Given the description of an element on the screen output the (x, y) to click on. 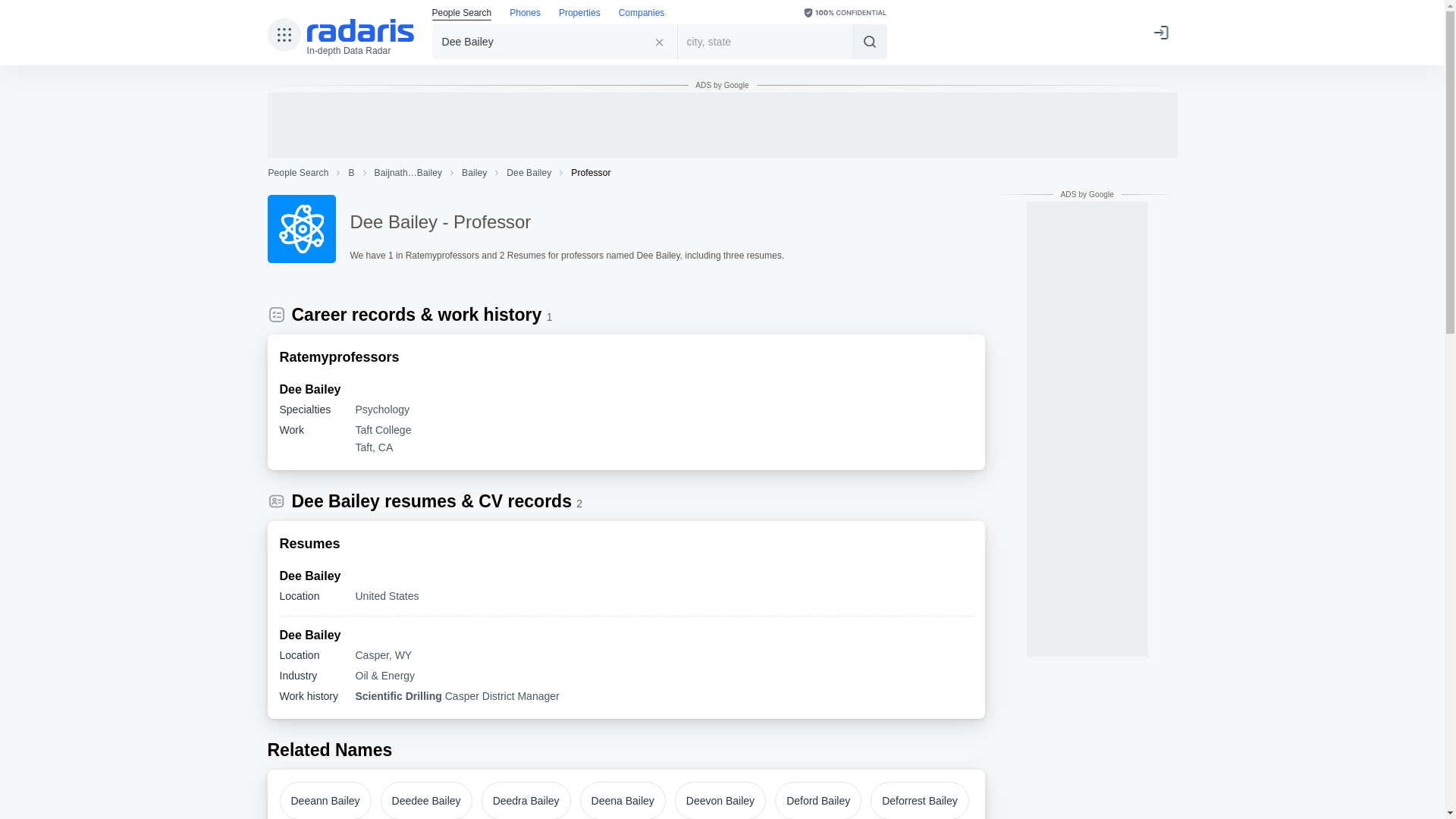
Deevon Bailey (720, 800)
Phones (524, 13)
Deford Bailey (817, 800)
People Search (462, 13)
B (350, 172)
Properties (579, 13)
Deforrest Bailey (919, 800)
Bailey (473, 172)
Deena Bailey (622, 800)
Dee Bailey (555, 41)
